Given the description of an element on the screen output the (x, y) to click on. 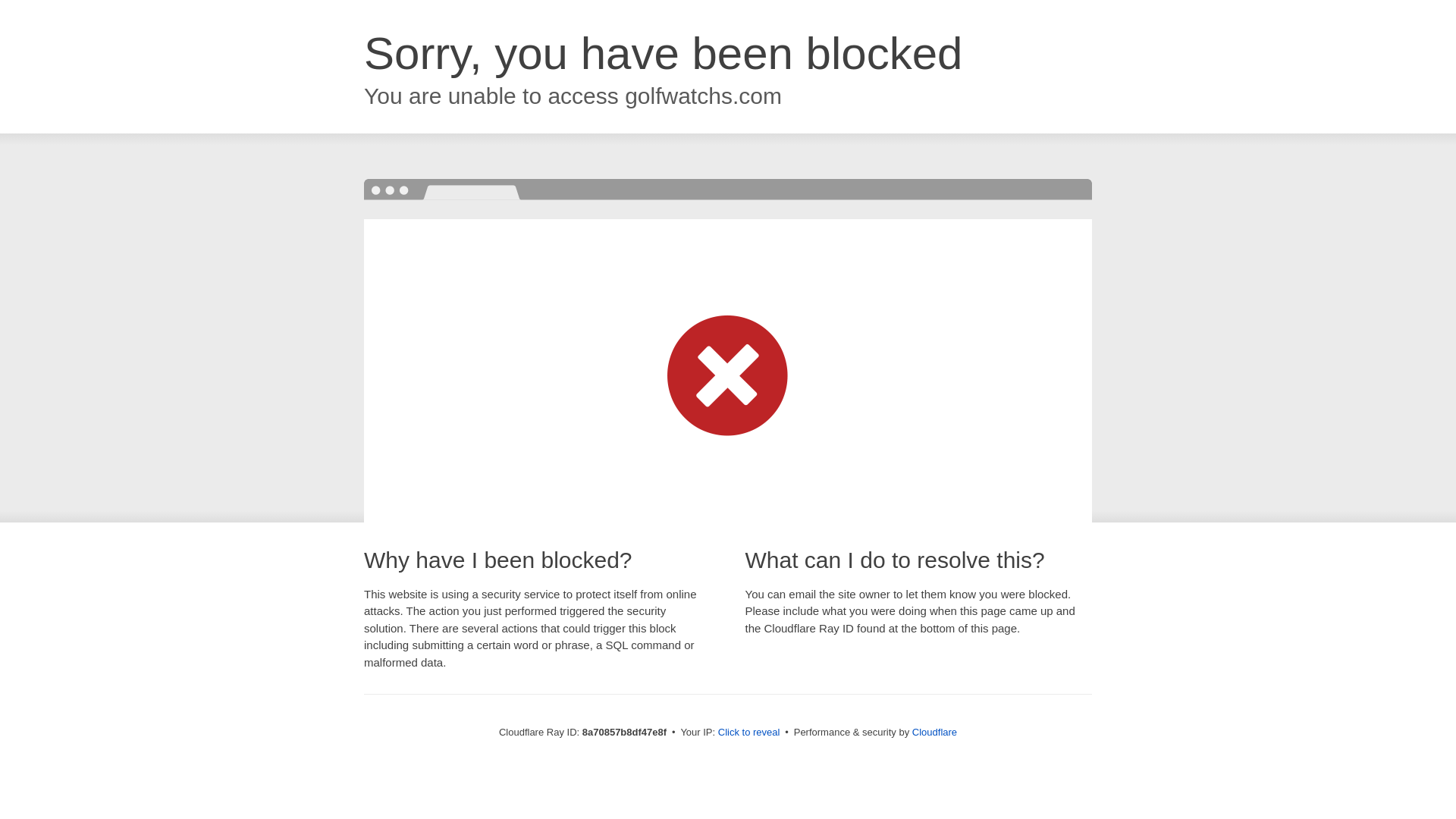
Click to reveal (748, 732)
Cloudflare (934, 731)
